Given the description of an element on the screen output the (x, y) to click on. 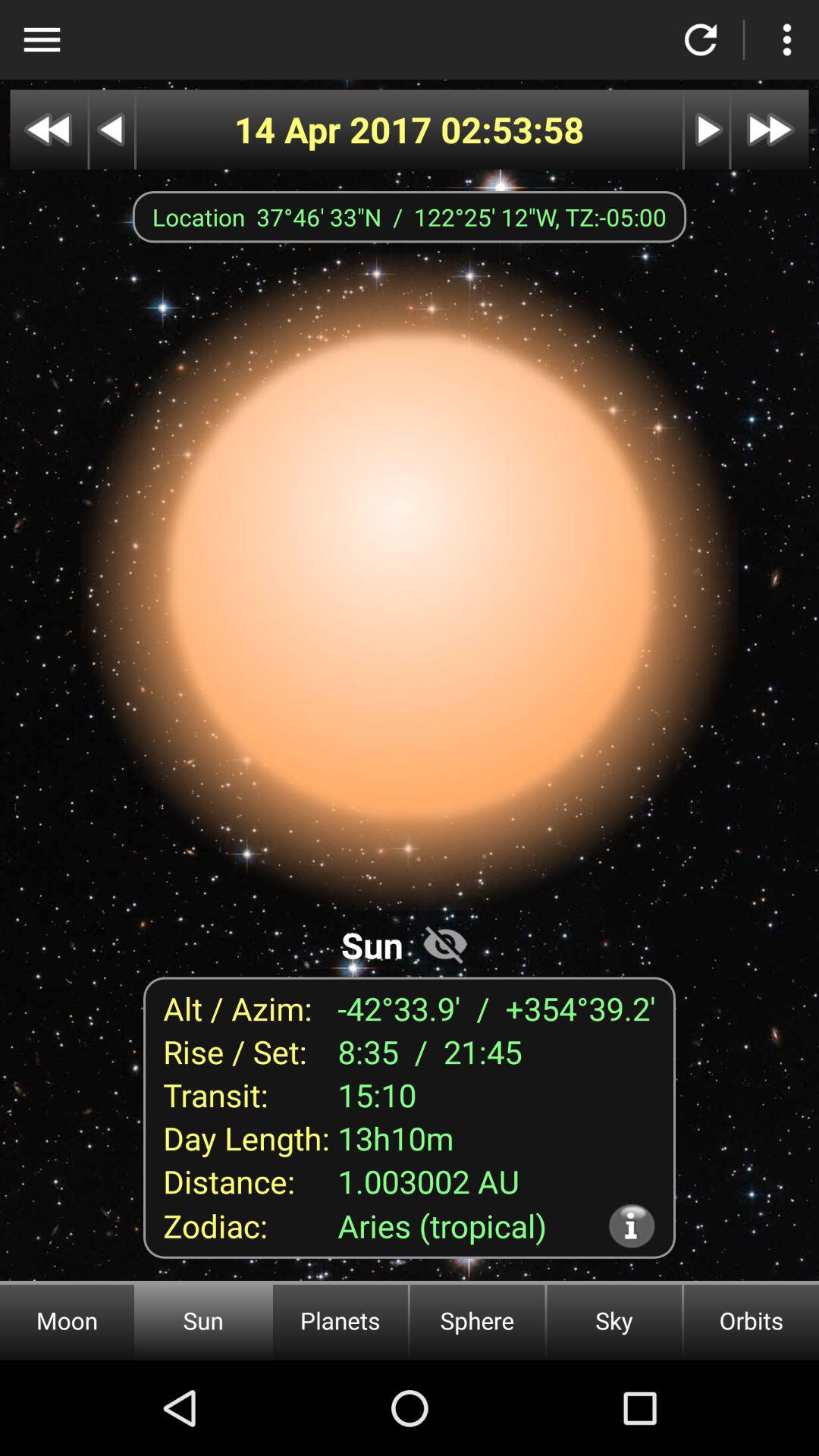
launch item above the sky icon (631, 1225)
